Given the description of an element on the screen output the (x, y) to click on. 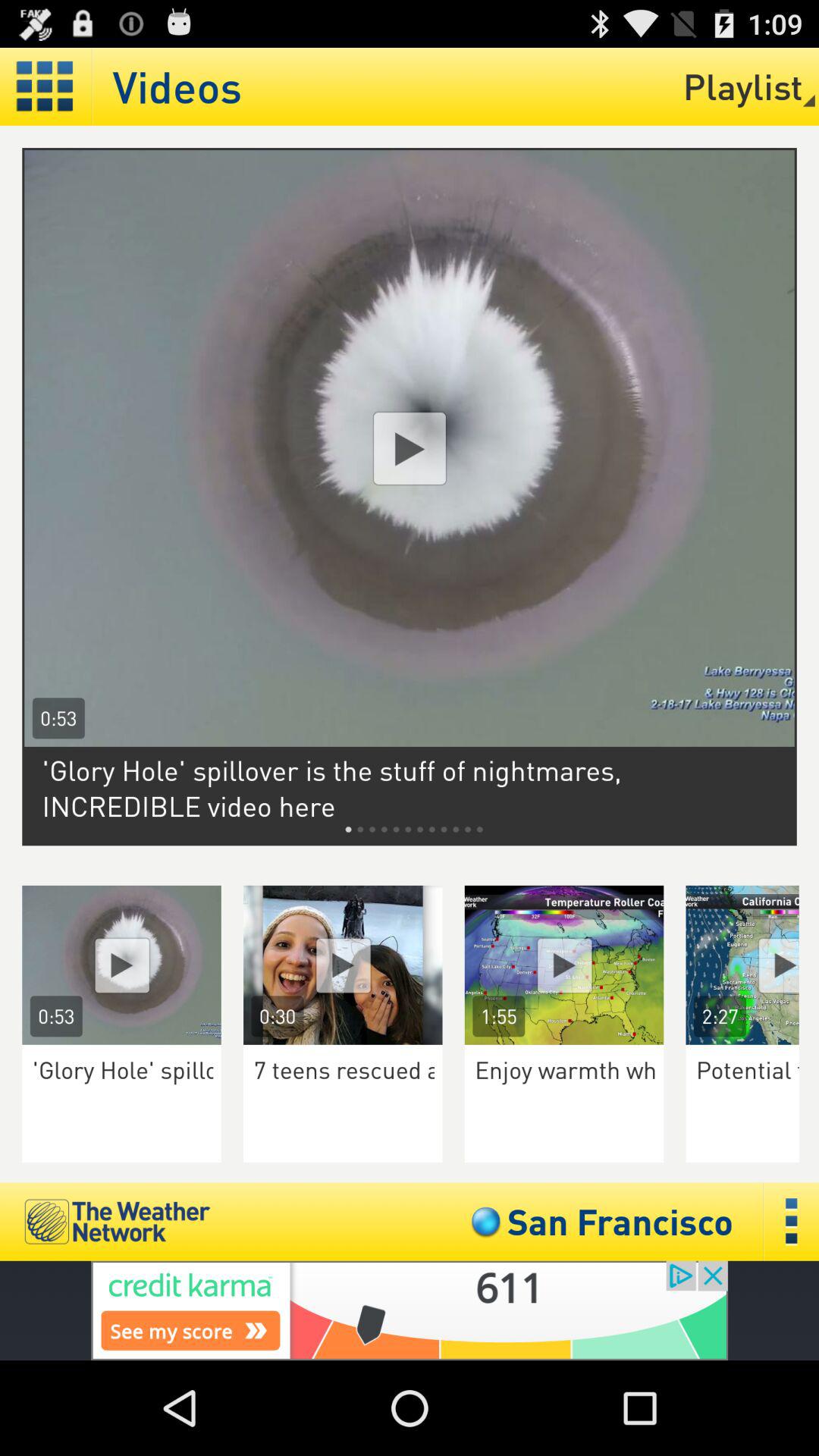
watch the video (342, 964)
